Given the description of an element on the screen output the (x, y) to click on. 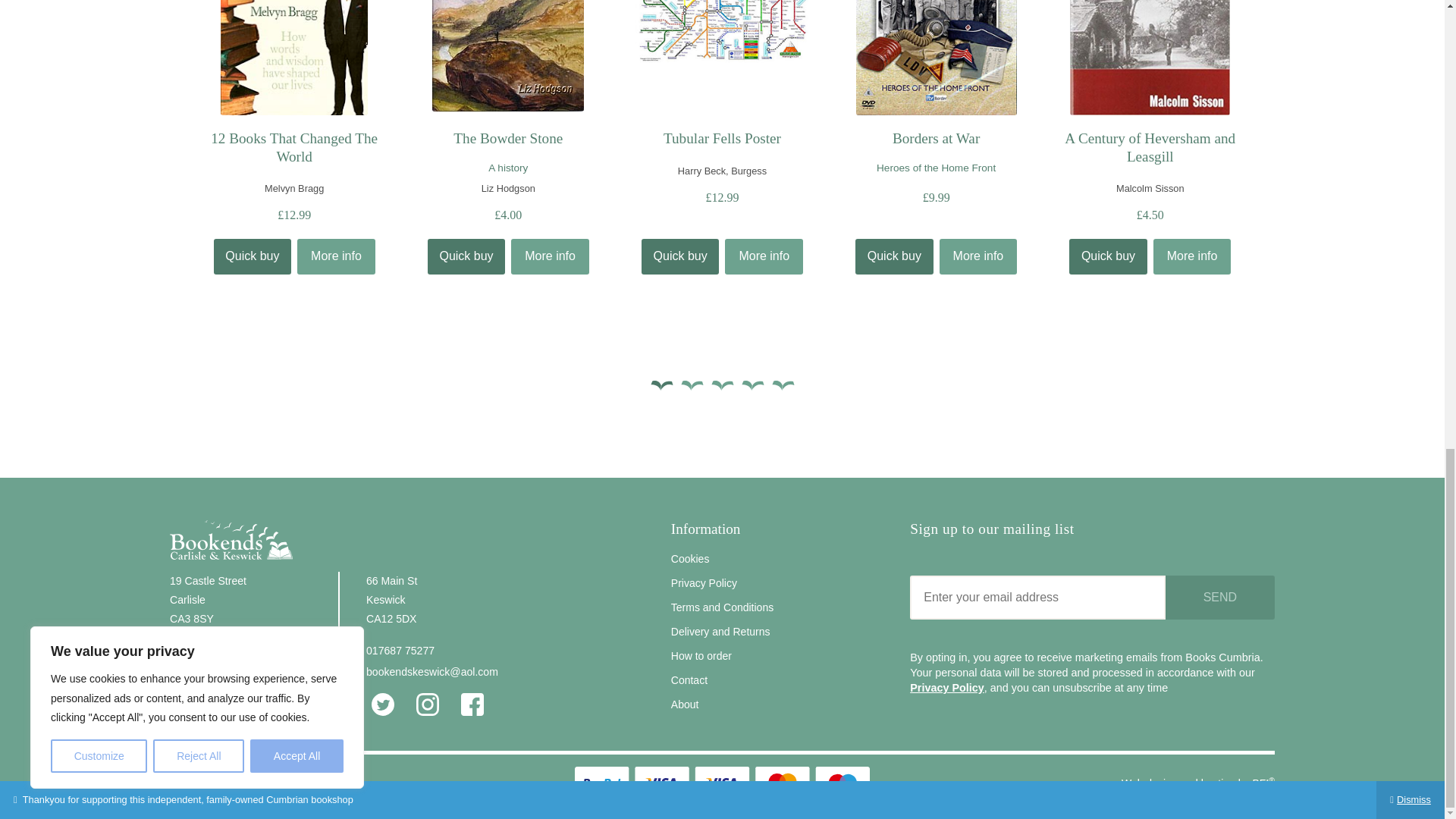
SEND (1220, 596)
Lancashire and Cumbria Web Design (1263, 783)
